Given the description of an element on the screen output the (x, y) to click on. 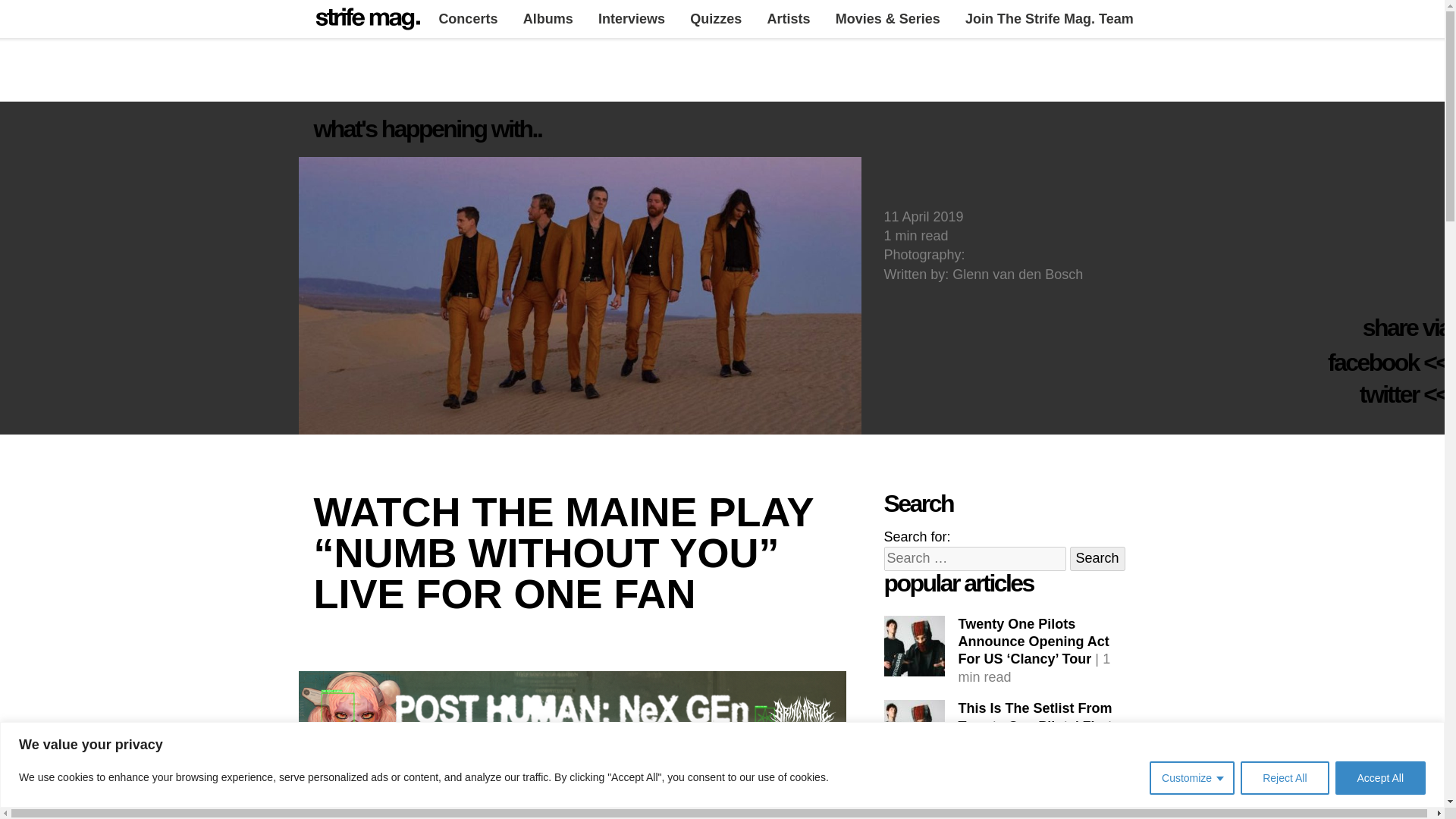
Albums (547, 18)
Falling In Reverse 2022 - Strife Mag (913, 801)
Search (1097, 558)
Accept All (1380, 777)
Twenty One Pilots Clancy era - Strife Mag (913, 645)
Strife (367, 18)
Search (1097, 558)
Reject All (1283, 777)
Twenty One Pilots Clancy era - Strife Mag (913, 730)
Customize (1192, 777)
